Given the description of an element on the screen output the (x, y) to click on. 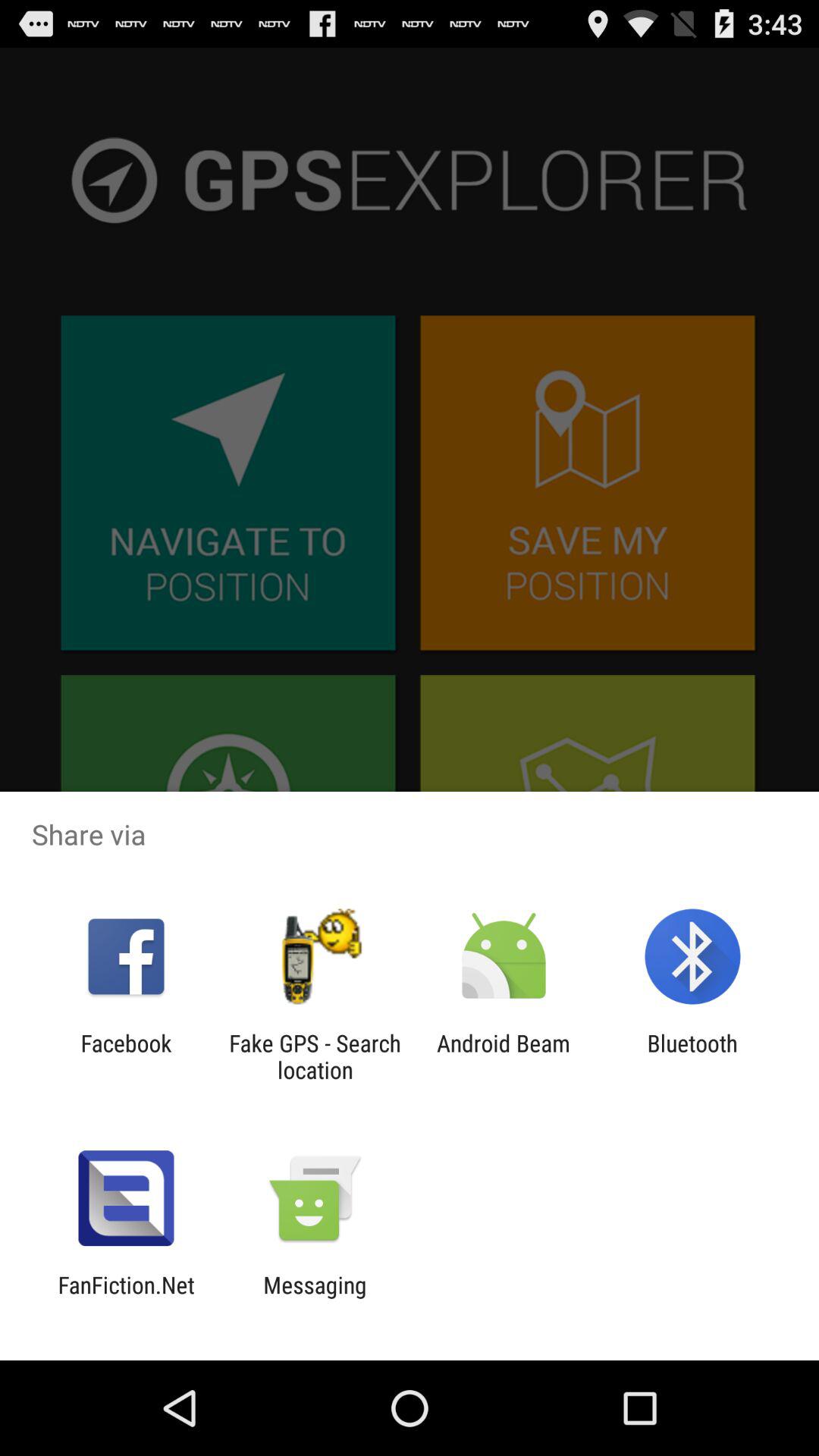
open icon next to messaging app (126, 1298)
